Given the description of an element on the screen output the (x, y) to click on. 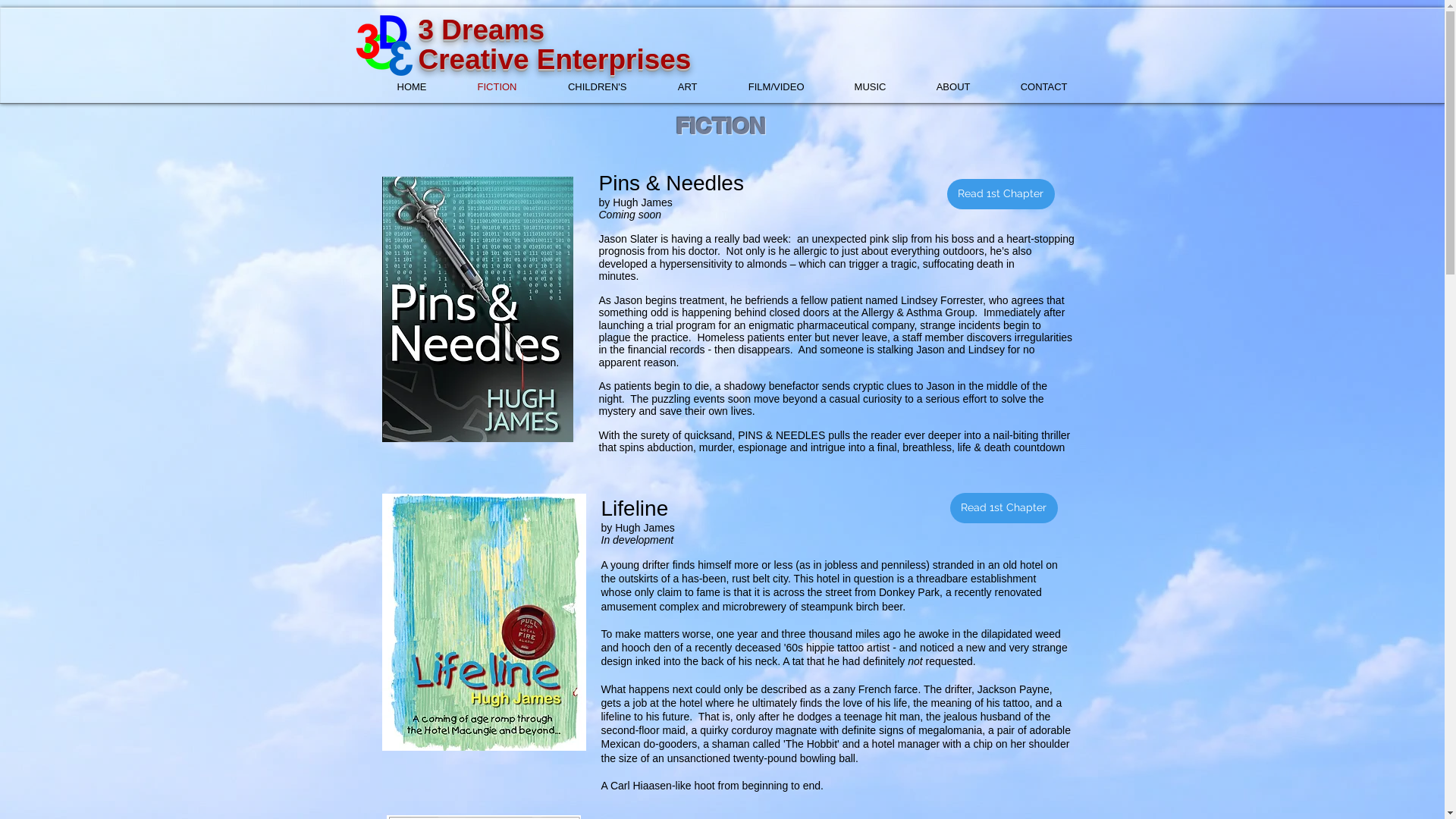
HOME Element type: text (397, 86)
FILM/VIDEO Element type: text (761, 86)
Read 1st Chapter Element type: text (1000, 193)
CONTACT Element type: text (1029, 86)
MUSIC Element type: text (856, 86)
ABOUT Element type: text (939, 86)
Read 1st Chapter Element type: text (1003, 507)
FICTION Element type: text (483, 86)
CHILDREN'S Element type: text (582, 86)
ART Element type: text (673, 86)
